Given the description of an element on the screen output the (x, y) to click on. 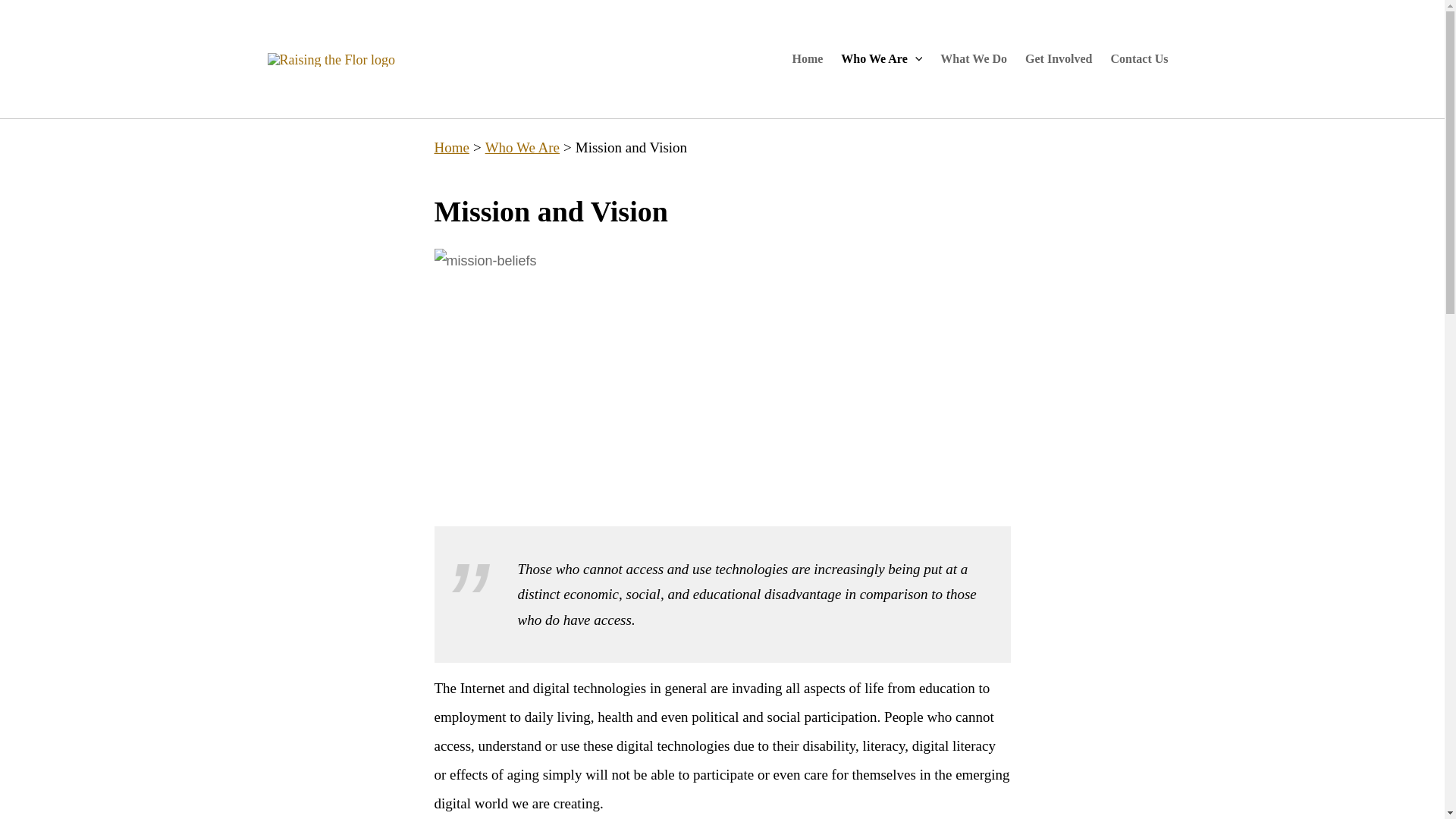
Home (450, 147)
Who We Are (521, 147)
Who We Are (881, 59)
What We Do (973, 59)
Get Involved (1058, 59)
Contact Us (1138, 59)
Home (807, 59)
